Given the description of an element on the screen output the (x, y) to click on. 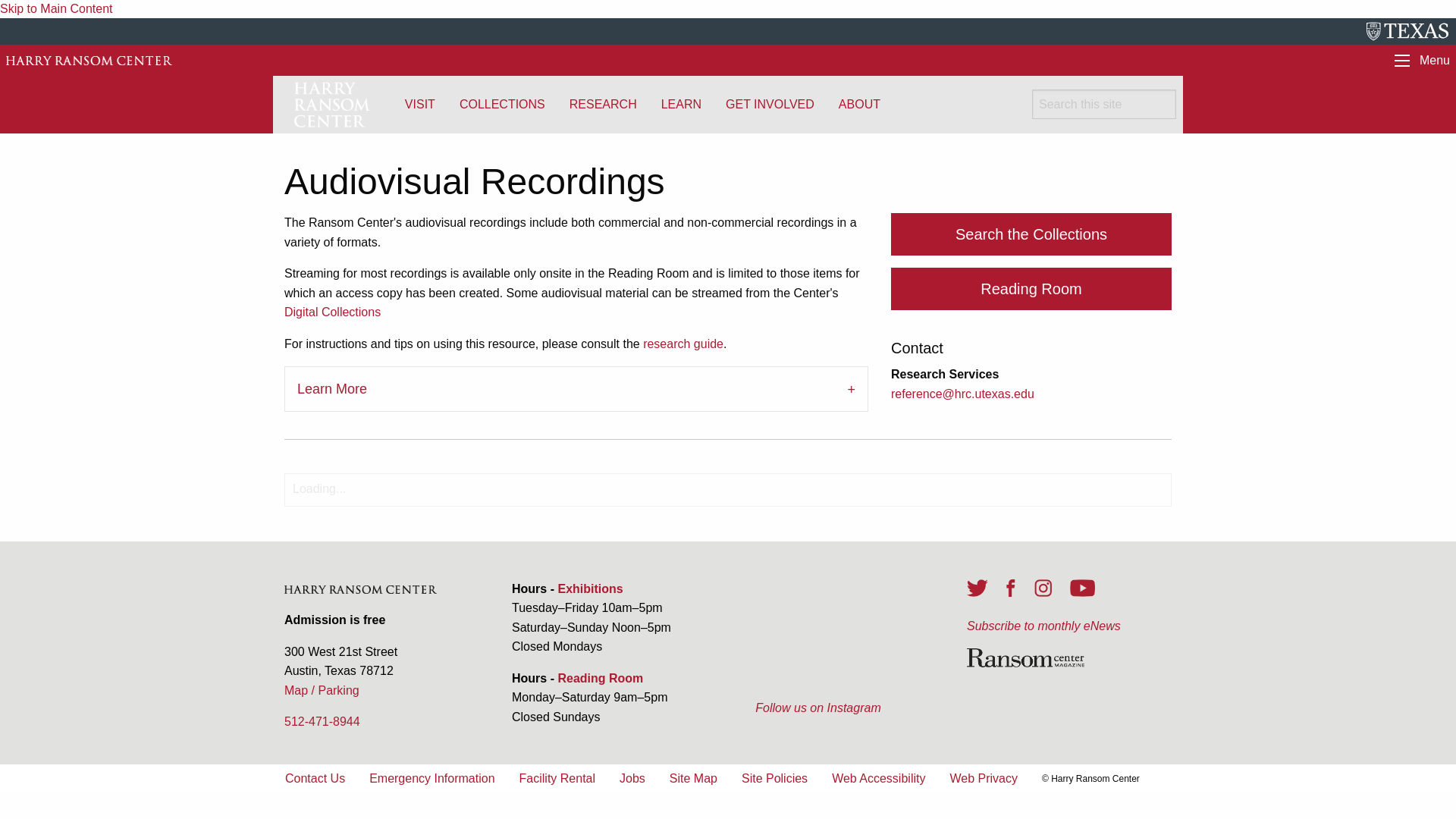
Instagram featured image (817, 635)
GET INVOLVED (770, 104)
COLLECTIONS (501, 104)
RESEARCH (603, 104)
VISIT (419, 104)
Skip to Main Content (56, 8)
LEARN (681, 104)
University of Texas at Austin (1407, 31)
